Given the description of an element on the screen output the (x, y) to click on. 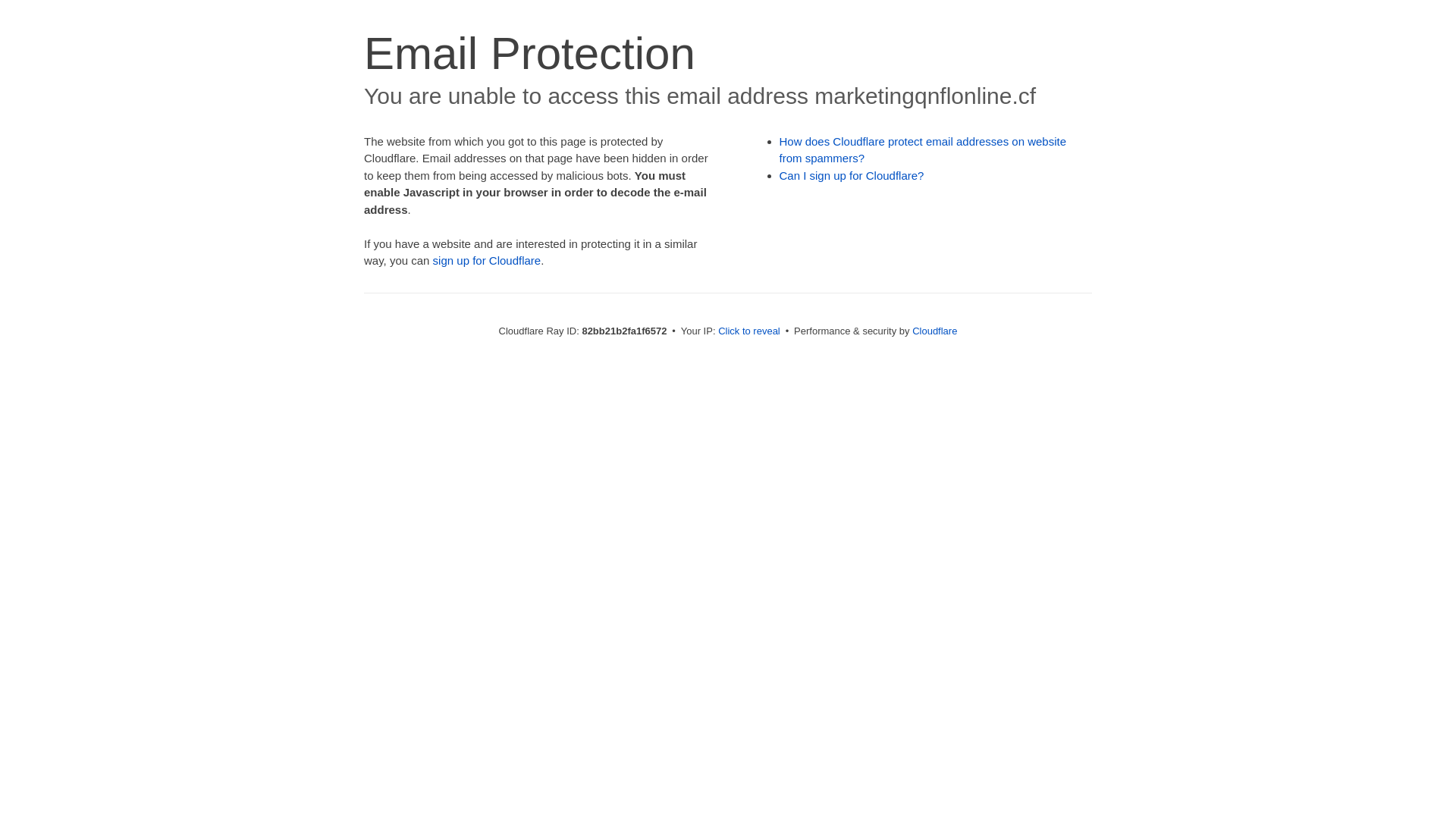
Cloudflare Element type: text (934, 330)
Click to reveal Element type: text (749, 330)
Can I sign up for Cloudflare? Element type: text (851, 175)
sign up for Cloudflare Element type: text (487, 260)
